Given the description of an element on the screen output the (x, y) to click on. 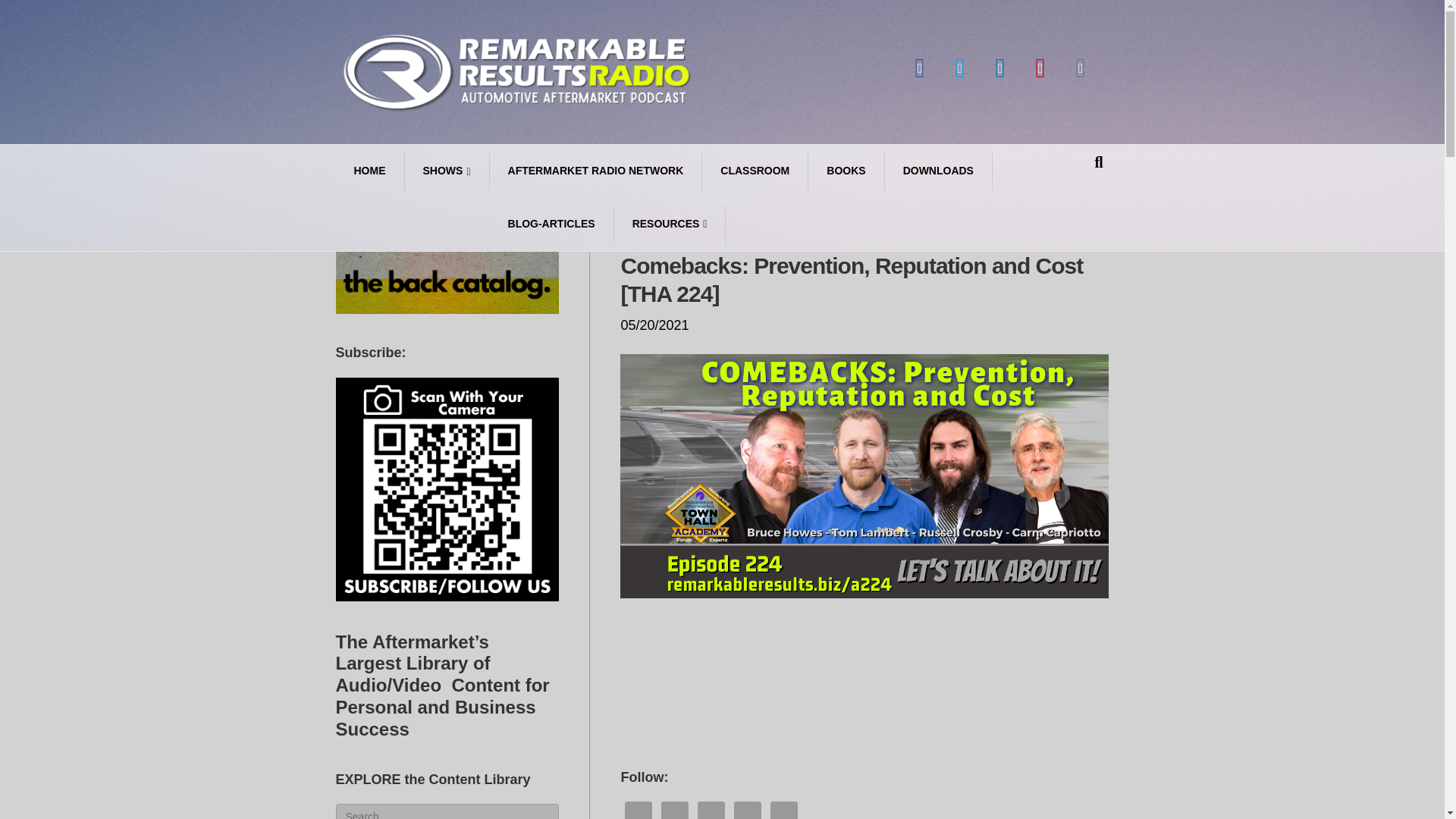
Twitter (959, 67)
RESOURCES (670, 224)
Linkedin (999, 67)
Facebook (919, 67)
BLOG-ARTICLES (551, 224)
DOWNLOADS (938, 171)
Type and press Enter to search. (446, 811)
SHOWS (446, 171)
BOOKS (845, 171)
HOME (369, 171)
Instagram (1079, 67)
AFTERMARKET RADIO NETWORK (596, 171)
CLASSROOM (754, 171)
Youtube (1040, 67)
